Given the description of an element on the screen output the (x, y) to click on. 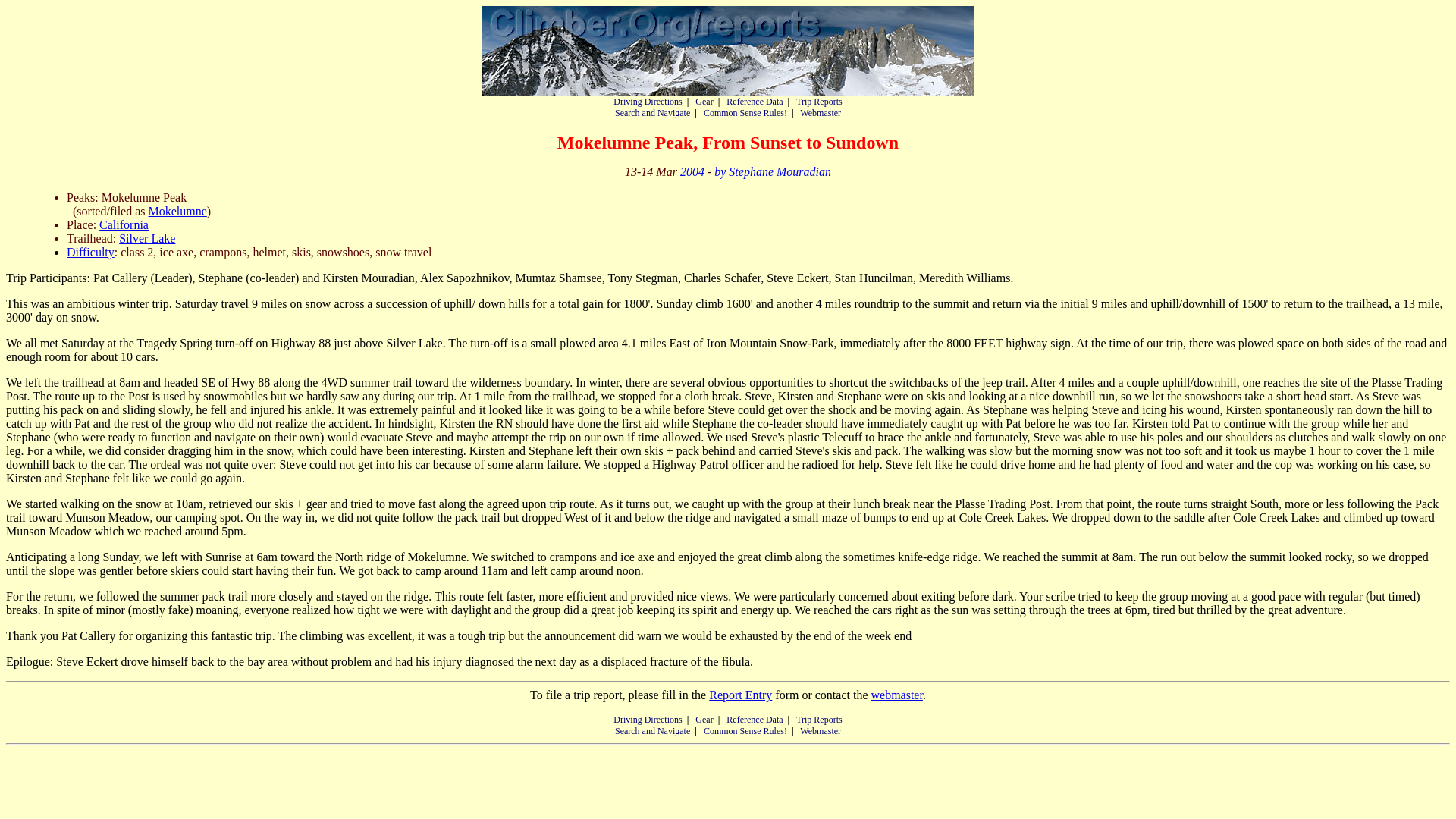
2004 (691, 171)
Climber.Org Home Page (727, 50)
California (123, 224)
Webmaster (820, 730)
Difficulty (90, 251)
Silver Lake (146, 237)
Trip Reports (819, 719)
Driving Directions (646, 101)
Mokelumne (177, 210)
Webmaster (820, 112)
